Given the description of an element on the screen output the (x, y) to click on. 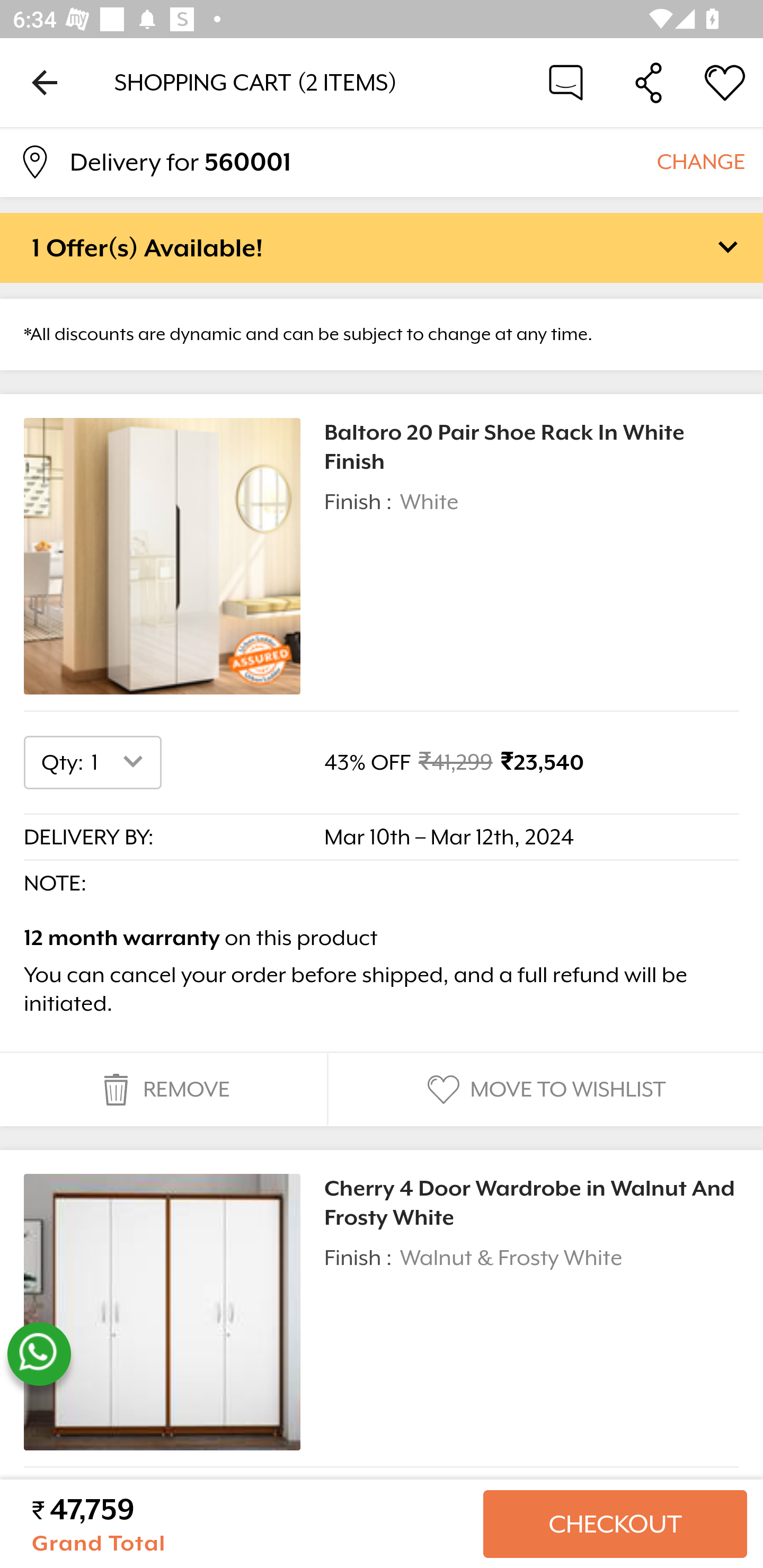
Navigate up (44, 82)
Chat (565, 81)
Share Cart (648, 81)
Wishlist (724, 81)
CHANGE (700, 161)
1 Offer(s) Available! (381, 247)
1 (121, 761)
REMOVE (163, 1089)
MOVE TO WISHLIST (544, 1089)
whatsapp (38, 1353)
₹ 47,759 Grand Total (250, 1523)
CHECKOUT (614, 1523)
